Given the description of an element on the screen output the (x, y) to click on. 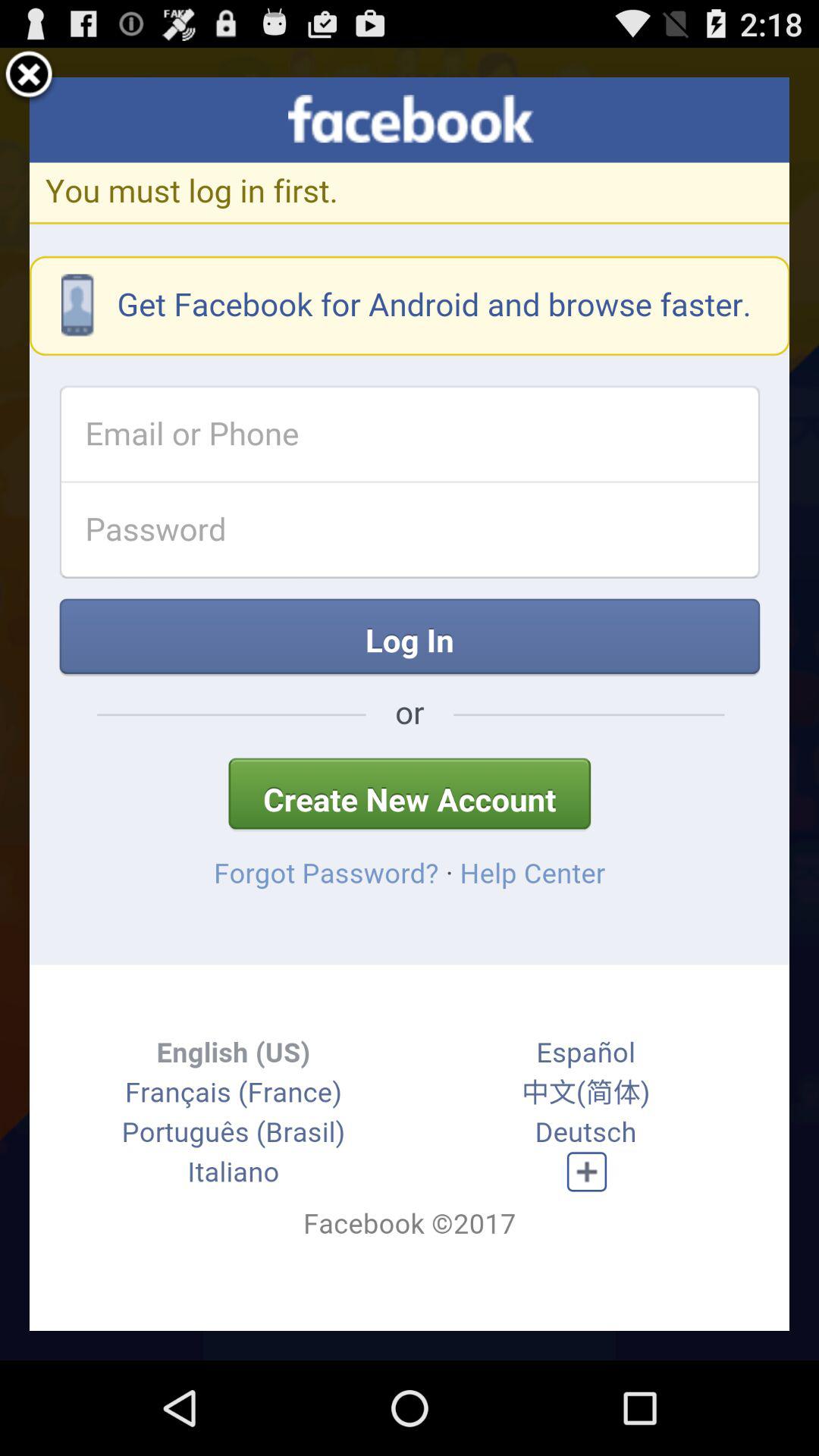
facebook (409, 703)
